Given the description of an element on the screen output the (x, y) to click on. 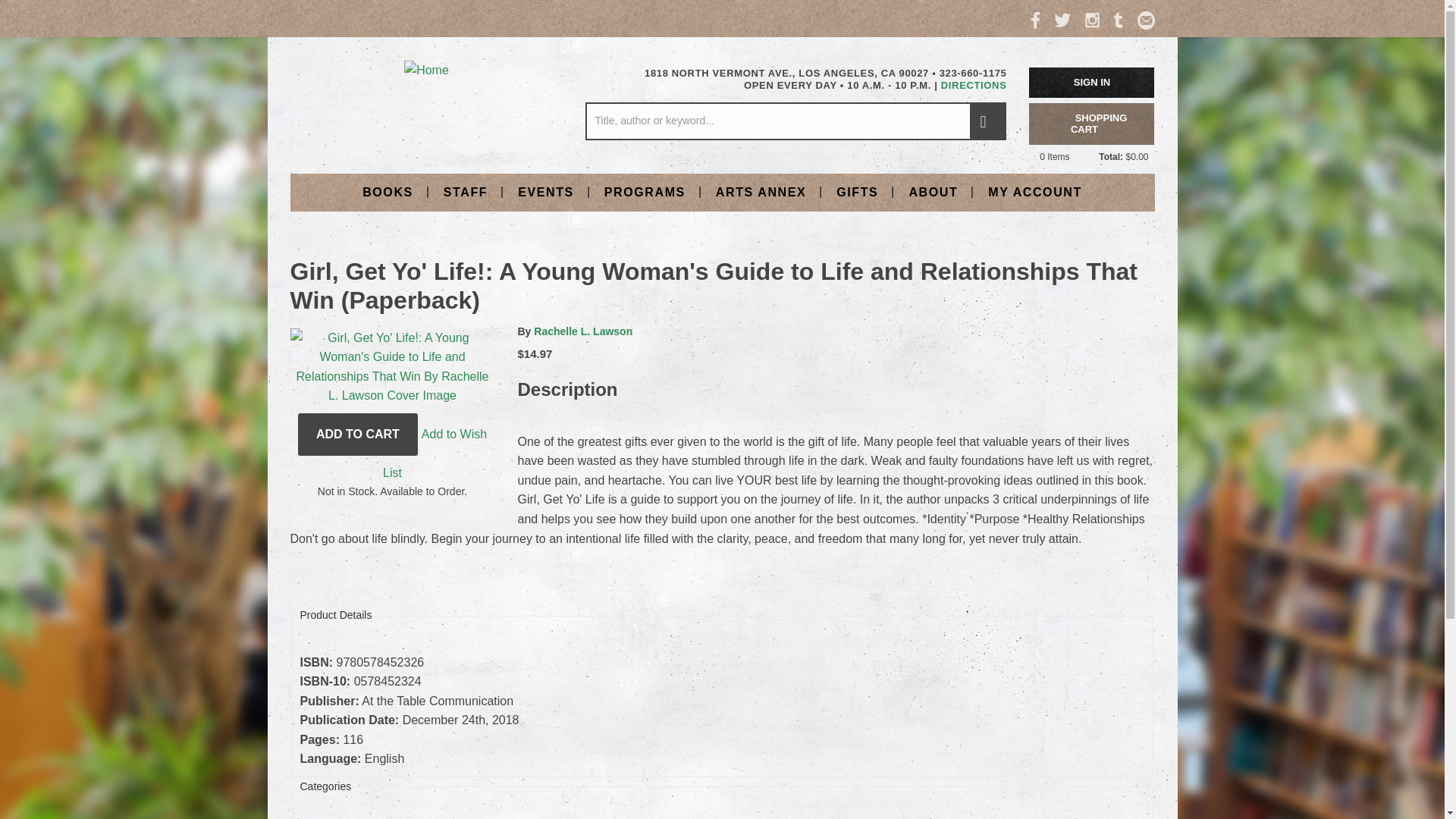
SHOPPING CART (1091, 123)
DIRECTIONS (973, 84)
BOOKS (387, 191)
search (987, 121)
STAFF (465, 191)
GIFTS (857, 191)
PROGRAMS (644, 191)
SIGN IN (1091, 81)
ARTS ANNEX (760, 191)
